Given the description of an element on the screen output the (x, y) to click on. 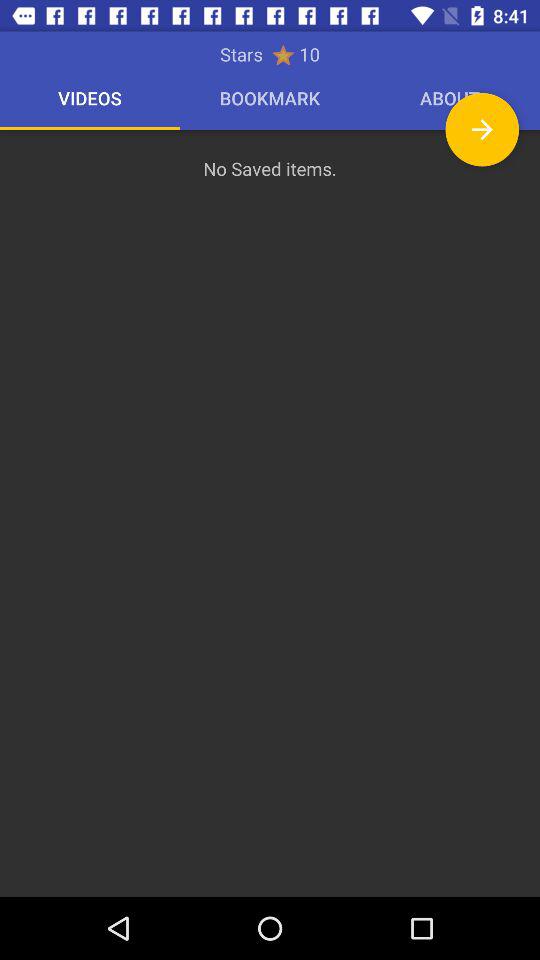
turn on item to the right of the bookmark item (482, 129)
